Given the description of an element on the screen output the (x, y) to click on. 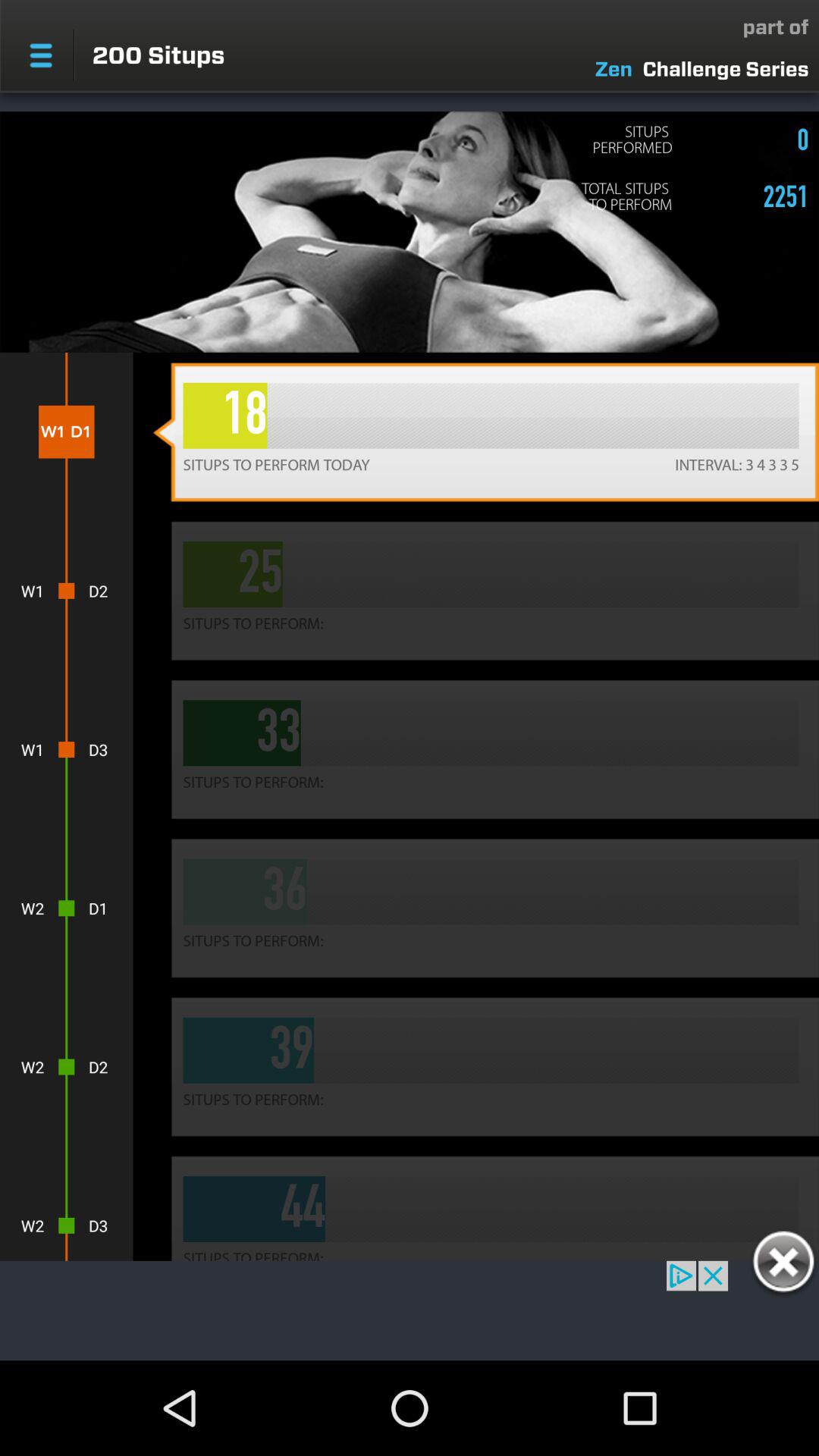
close button (783, 1264)
